Given the description of an element on the screen output the (x, y) to click on. 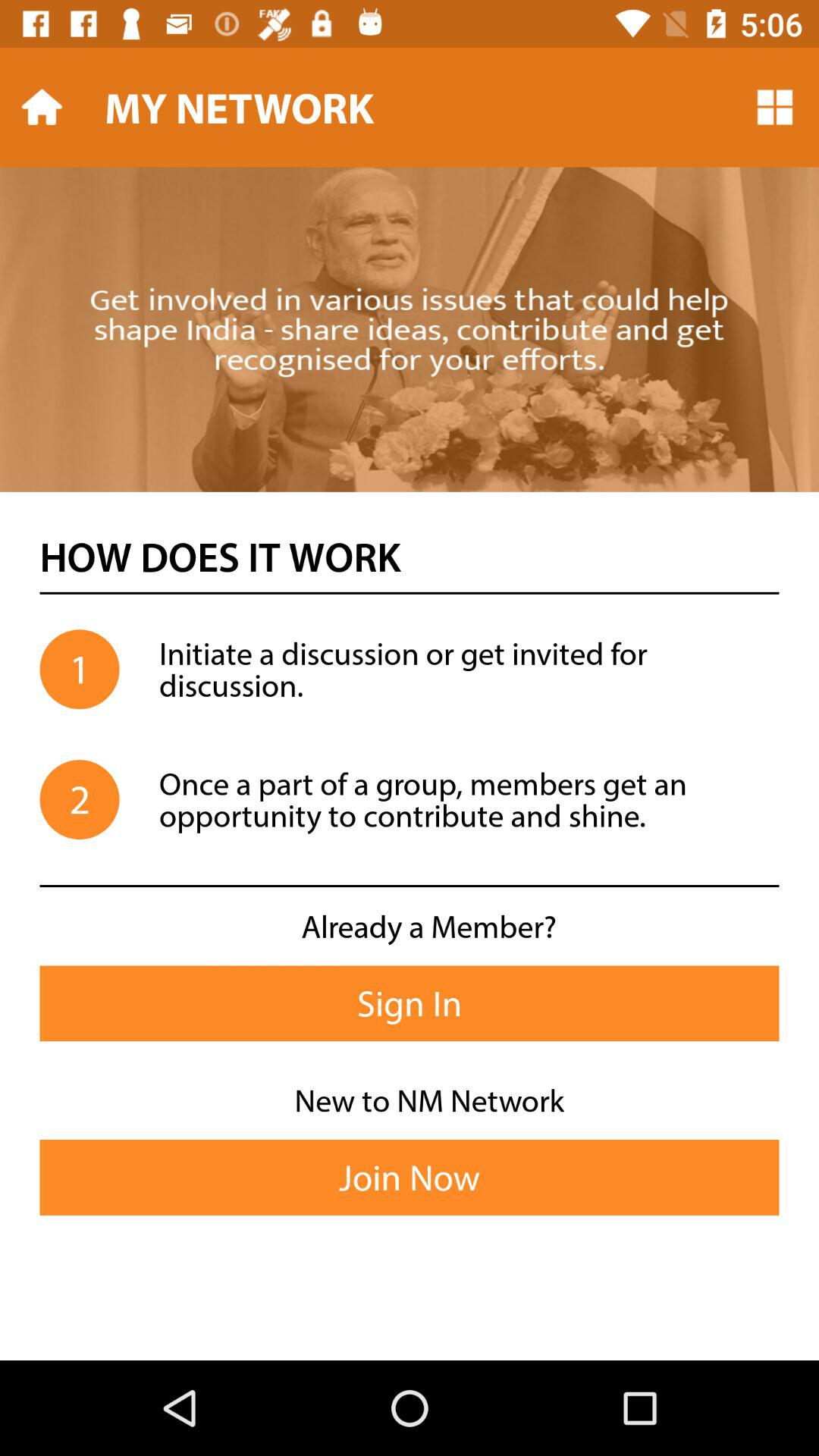
turn off the sign in item (409, 1003)
